Given the description of an element on the screen output the (x, y) to click on. 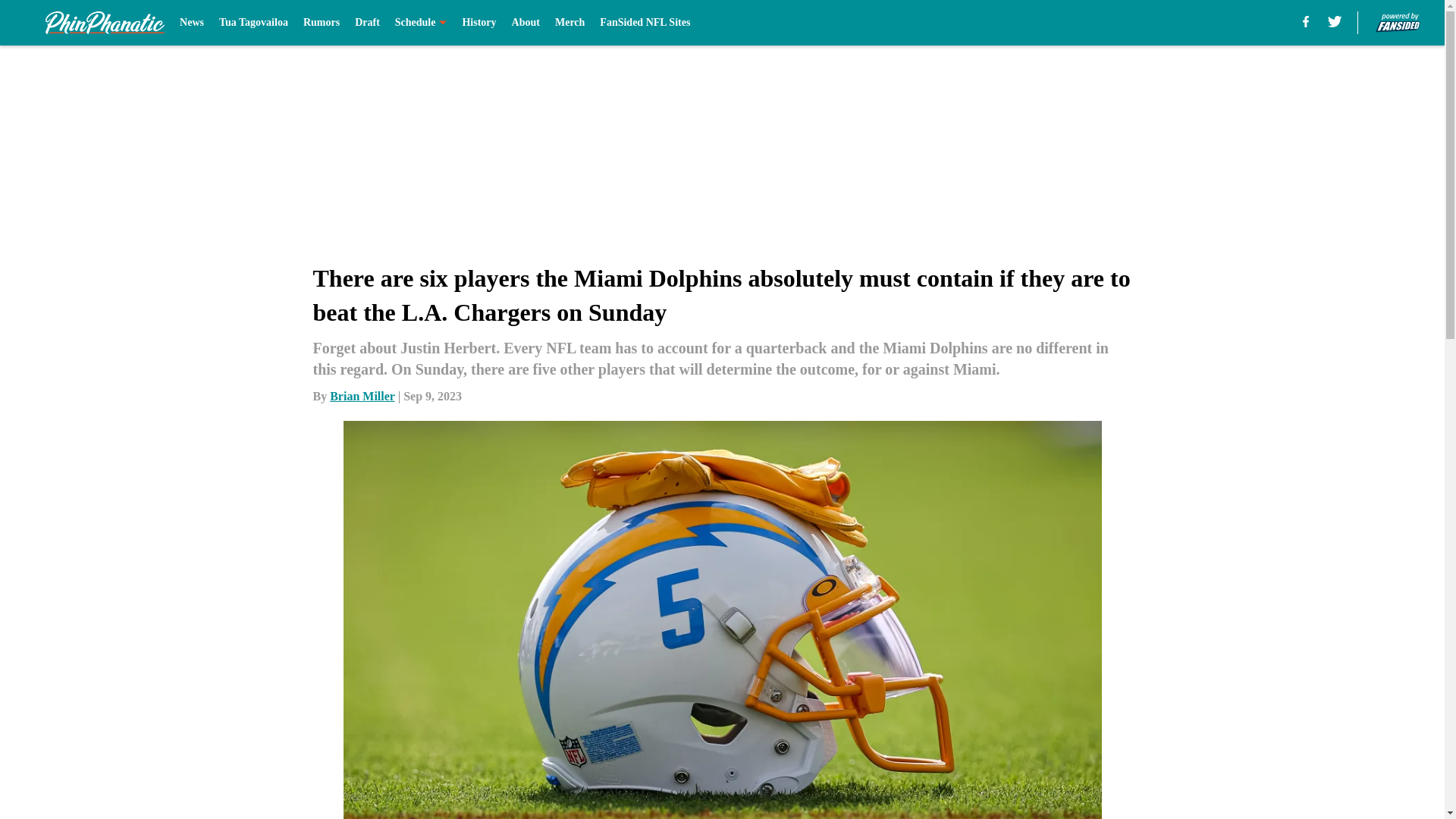
History (478, 22)
Merch (569, 22)
Rumors (320, 22)
Tua Tagovailoa (253, 22)
News (191, 22)
Draft (367, 22)
Brian Miller (362, 395)
FanSided NFL Sites (644, 22)
About (526, 22)
